Given the description of an element on the screen output the (x, y) to click on. 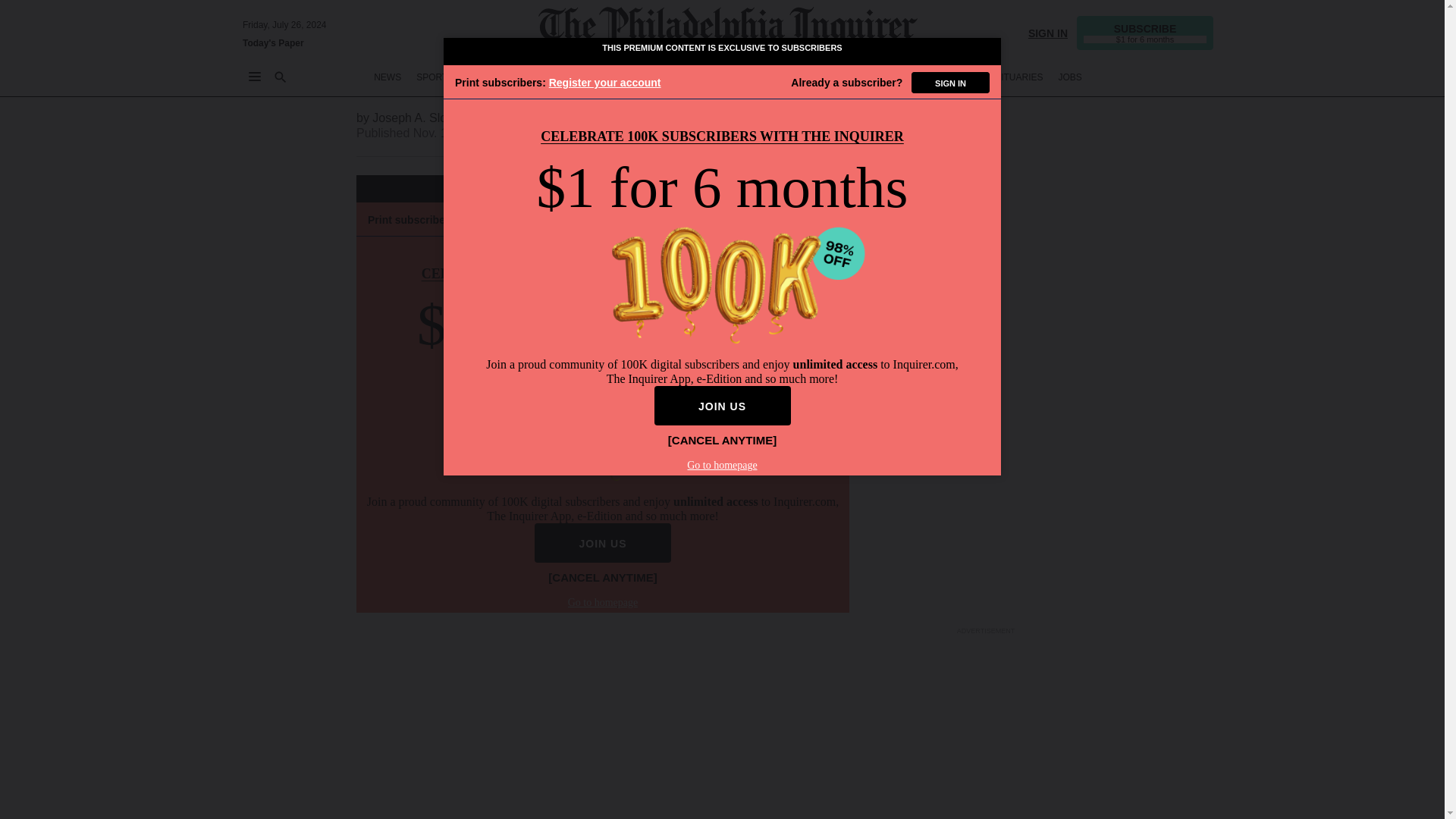
3rd party ad content (985, 83)
